Given the description of an element on the screen output the (x, y) to click on. 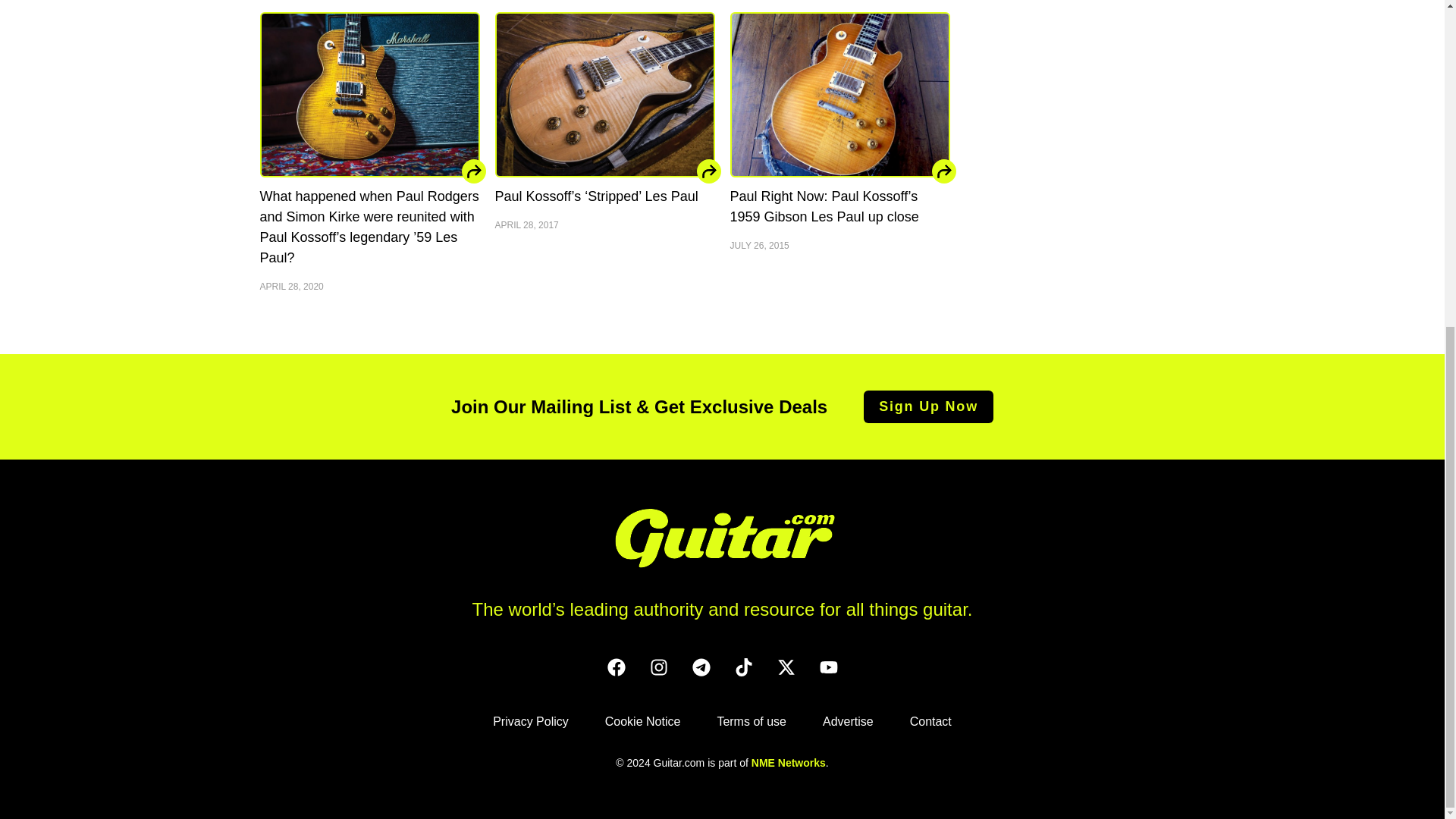
Sign Up Now (927, 406)
Contact (930, 721)
NME Networks (788, 762)
Published April 28, 2020 12:04PM (369, 285)
Cookie Notice (642, 721)
Terms of use (750, 721)
Advertise (847, 721)
Published July 26, 2015 10:43AM (839, 244)
Published April 27, 2017 4:45PM (604, 224)
Privacy Policy (530, 721)
